Given the description of an element on the screen output the (x, y) to click on. 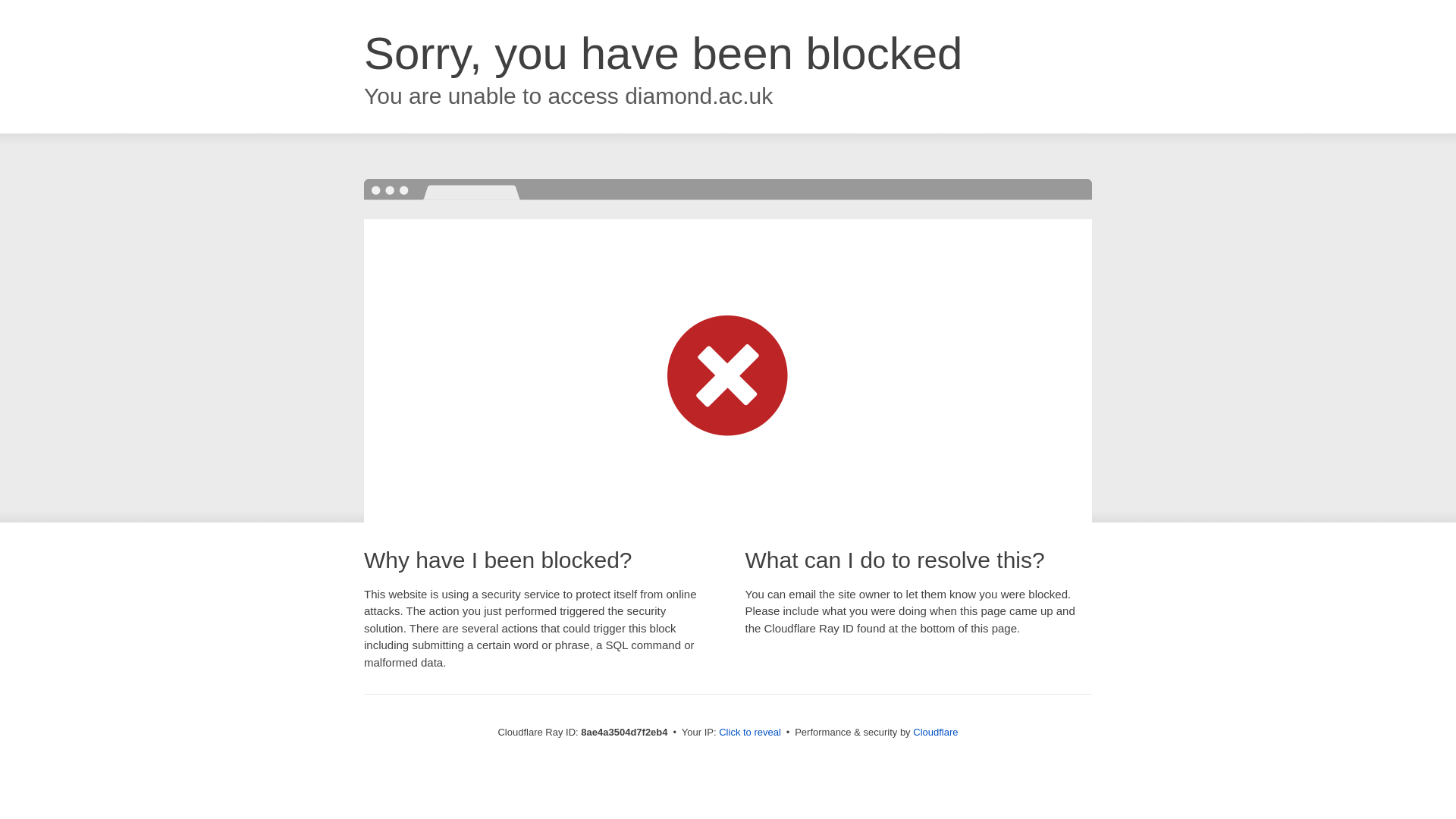
Cloudflare (935, 731)
Click to reveal (749, 732)
